Given the description of an element on the screen output the (x, y) to click on. 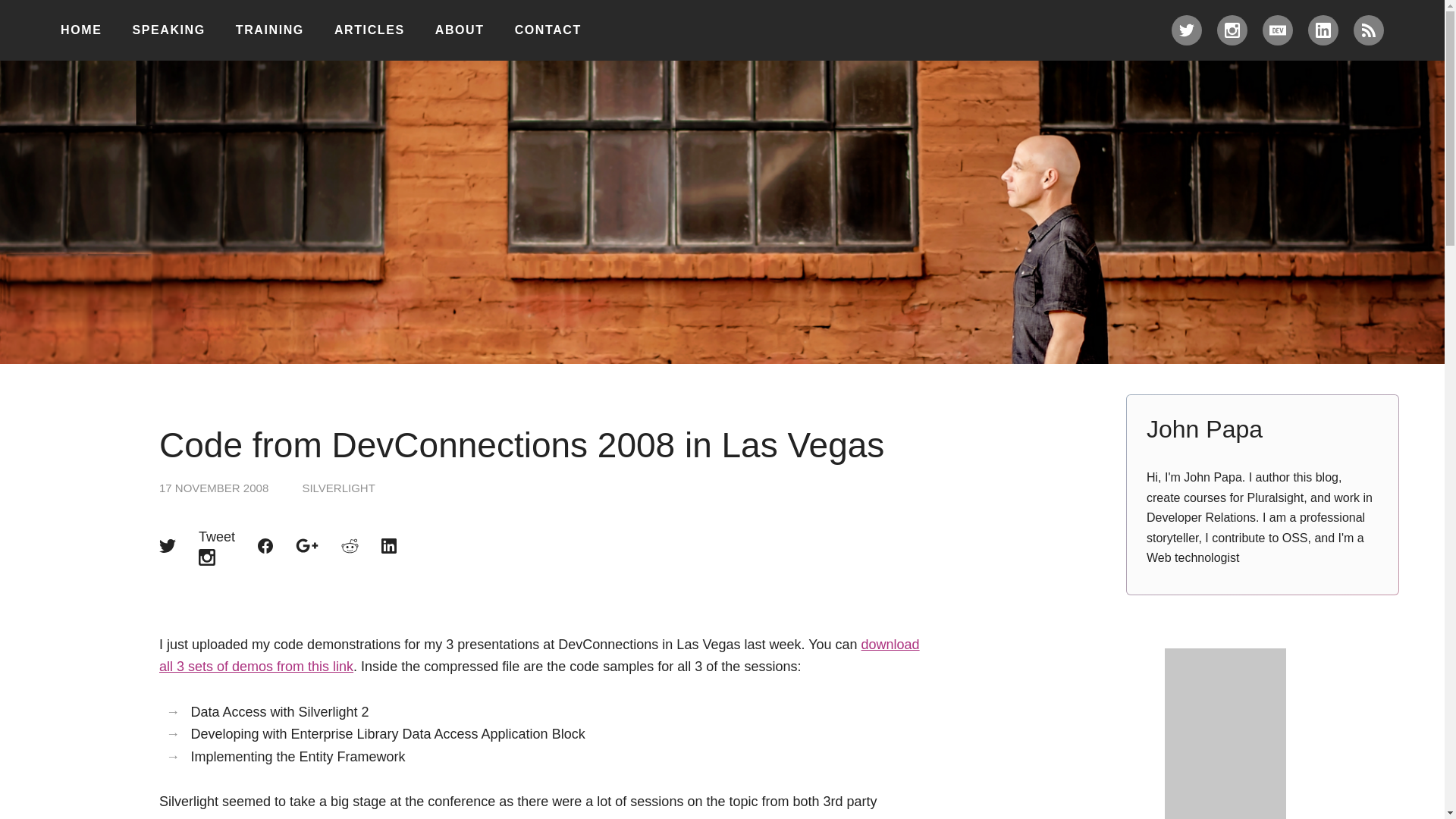
DEV.TO (1277, 30)
HOME (81, 29)
TRAINING (269, 29)
Share on LinkedIn (388, 545)
INSTAGRAM (1232, 30)
CONTACT (547, 29)
download all 3 sets of demos from this link (539, 655)
TWITTER (1187, 30)
ABOUT (459, 29)
Share on Twitter (167, 545)
Share on Reddit (349, 545)
SILVERLIGHT (337, 487)
Tweet (216, 545)
LINKEDIN (1322, 30)
ARTICLES (369, 29)
